Given the description of an element on the screen output the (x, y) to click on. 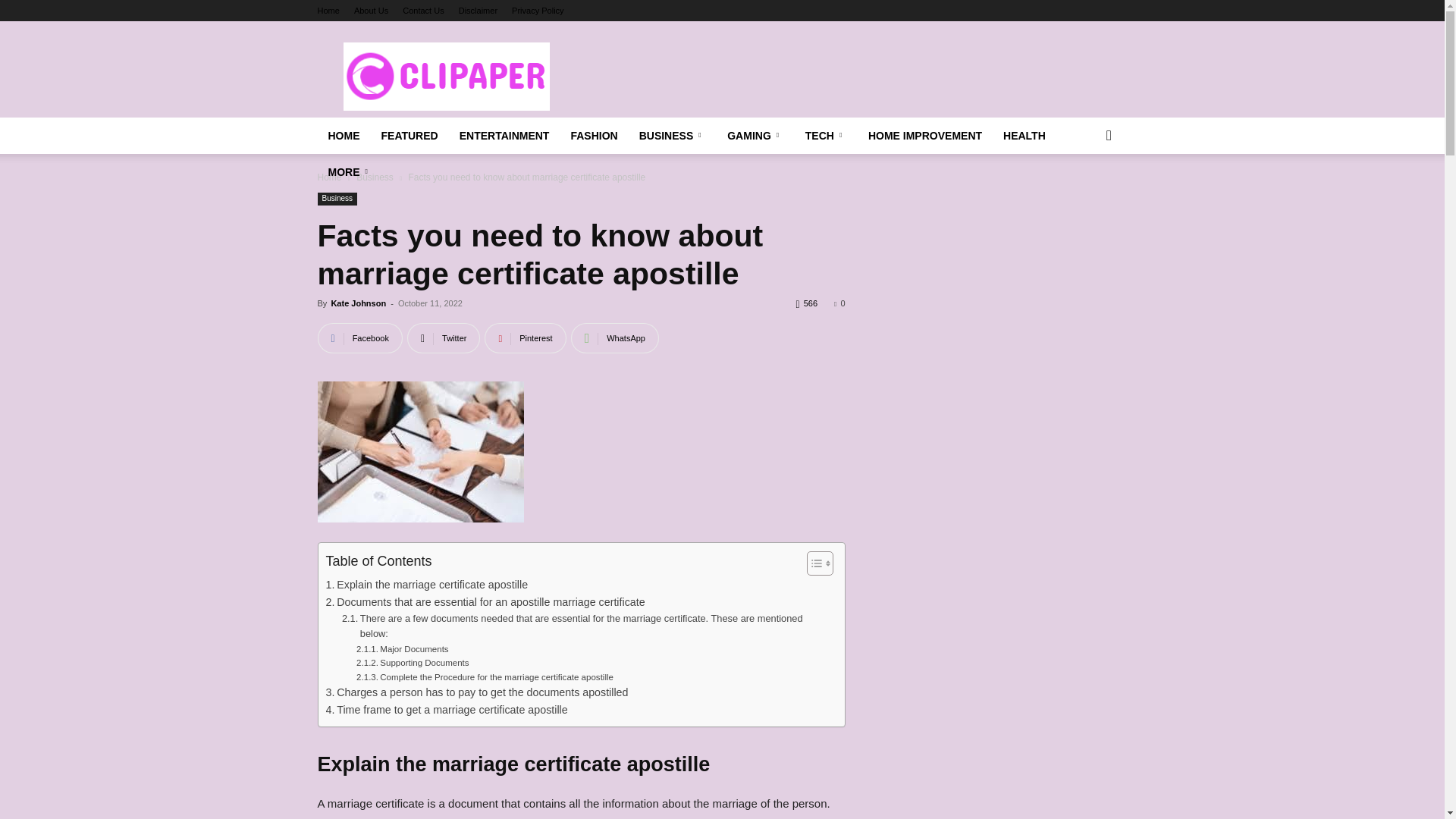
Major Documents (402, 649)
Pinterest (525, 337)
Contact Us (423, 10)
About Us (370, 10)
HOME (343, 135)
Charges a person has to pay to get the documents apostilled (477, 692)
ENTERTAINMENT (504, 135)
Explain the marriage certificate apostille (427, 584)
View all posts in Business (374, 176)
Time frame to get a marriage certificate apostille (446, 710)
FASHION (593, 135)
Twitter (443, 337)
